Given the description of an element on the screen output the (x, y) to click on. 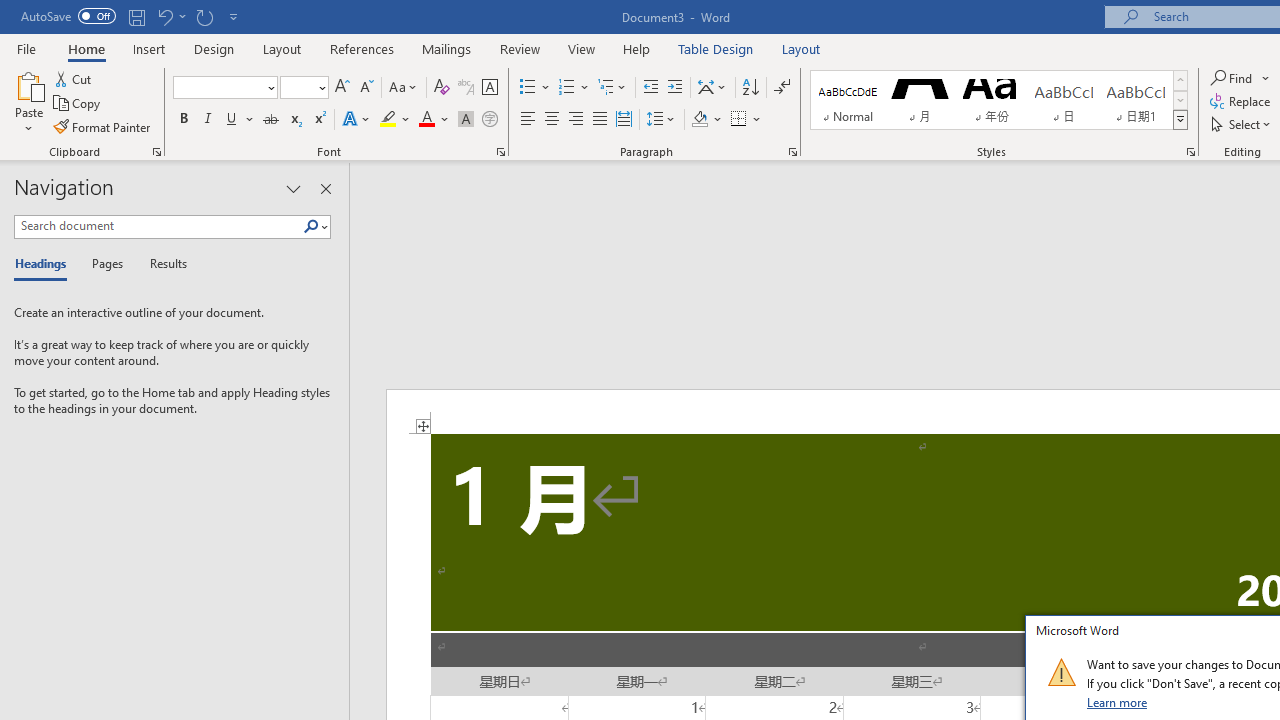
Insert (149, 48)
Replace... (1242, 101)
AutomationID: QuickStylesGallery (999, 99)
Undo Apply Quick Style (170, 15)
Grow Font (342, 87)
Sort... (750, 87)
Select (1242, 124)
Subscript (294, 119)
Superscript (319, 119)
